Given the description of an element on the screen output the (x, y) to click on. 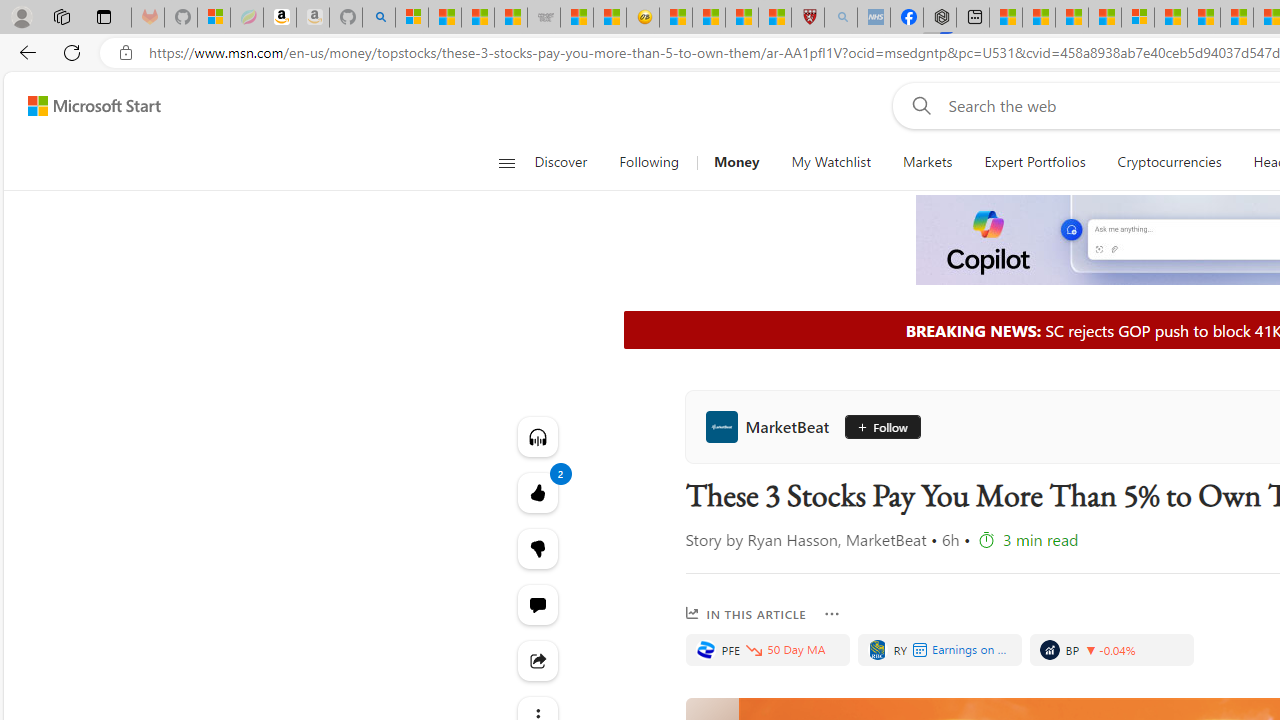
Open navigation menu (506, 162)
2 (537, 548)
BP, BP P.L.C.. Price is 33.51. Decreased by -0.04% (1111, 650)
Follow (876, 426)
ROYAL BANK OF CANADA (877, 650)
